Given the description of an element on the screen output the (x, y) to click on. 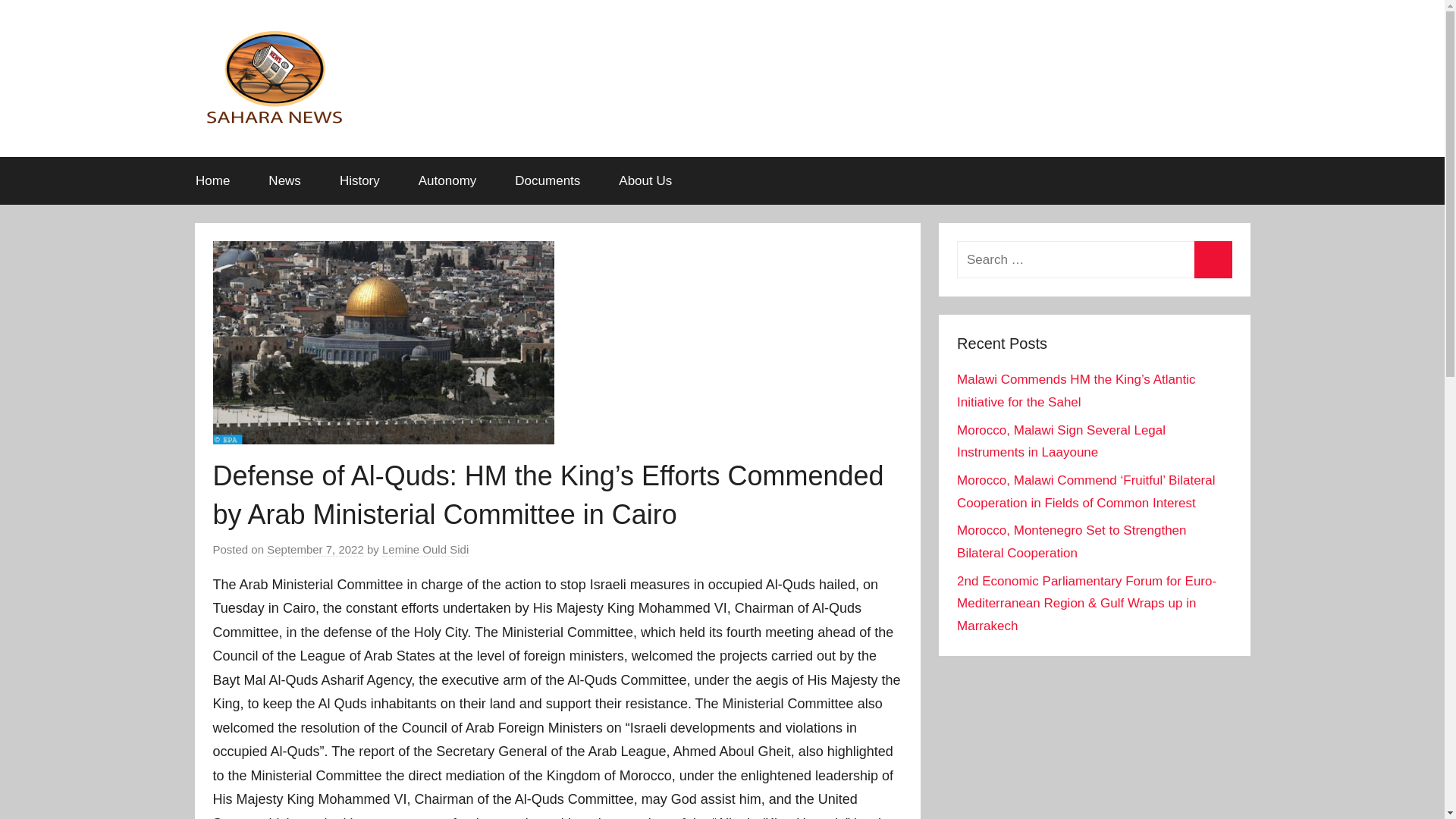
Lemine Ould Sidi (424, 549)
News (284, 180)
Search for: (1093, 259)
Autonomy (447, 180)
Morocco, Malawi Sign Several Legal Instruments in Laayoune (1061, 441)
Morocco, Montenegro Set to Strengthen Bilateral Cooperation (1071, 541)
About Us (645, 180)
Search (1212, 259)
View all posts by Lemine Ould Sidi (424, 549)
September 7, 2022 (315, 549)
Home (212, 180)
History (359, 180)
Documents (547, 180)
